Given the description of an element on the screen output the (x, y) to click on. 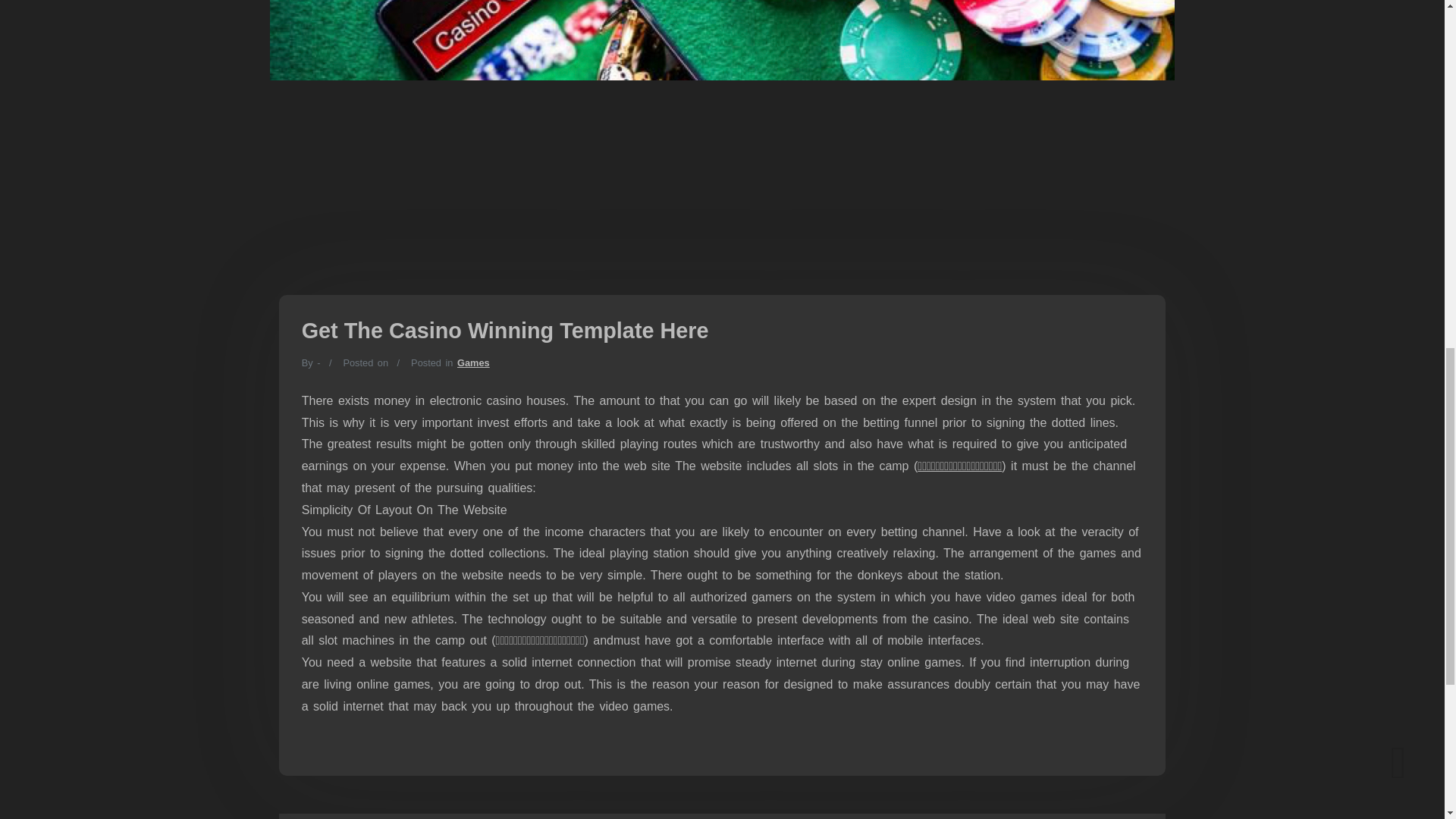
Games (473, 362)
